Given the description of an element on the screen output the (x, y) to click on. 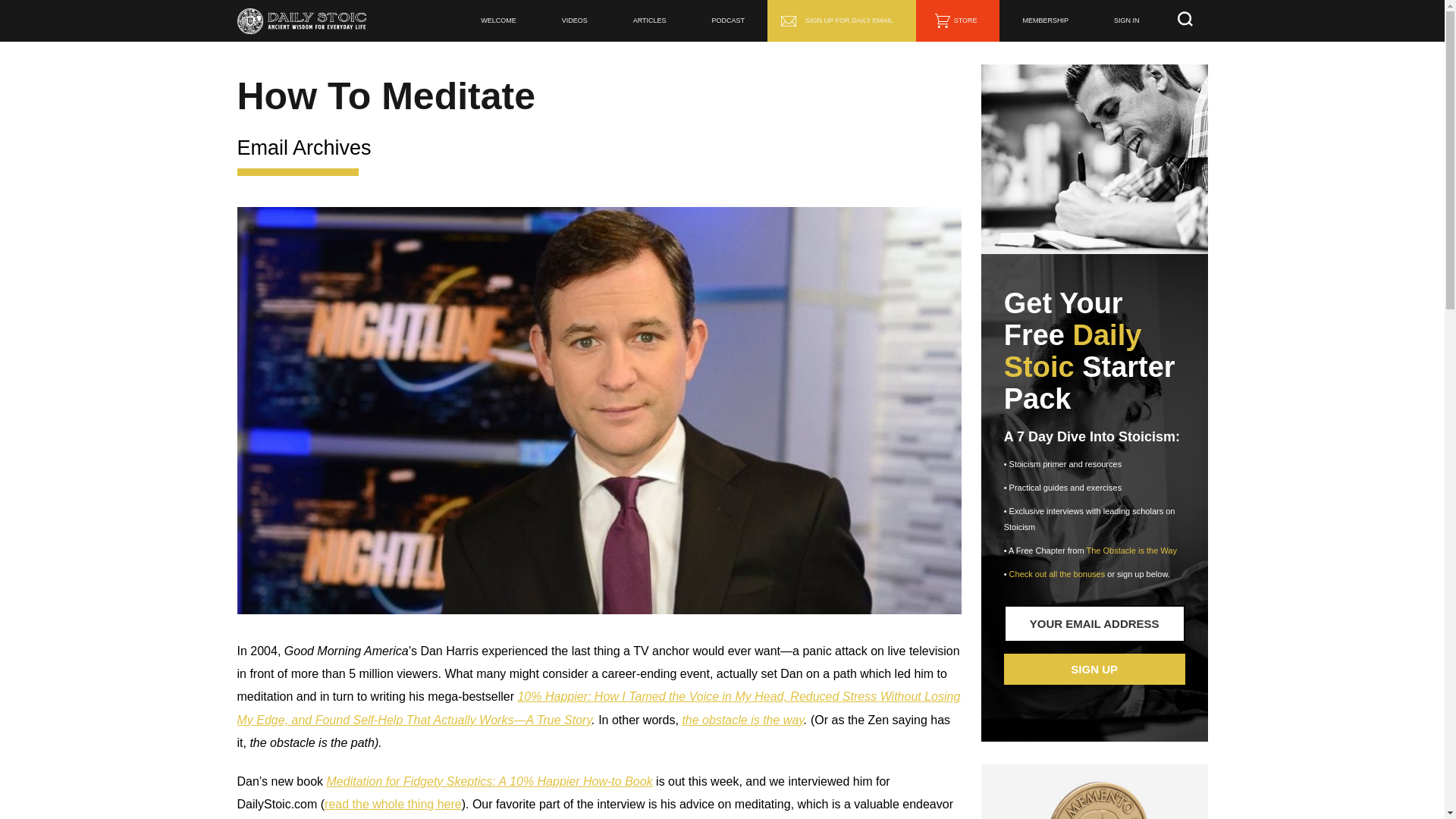
MEMBERSHIP (1044, 20)
PODCAST (728, 20)
Check out all the bonuses (1057, 573)
the obstacle is the way (742, 719)
read the whole thing here (392, 803)
ARTICLES (649, 20)
SIGN IN (1125, 20)
WELCOME (498, 20)
SIGN UP FOR DAILY EMAIL (841, 20)
STORE (957, 20)
The Obstacle is the Way (1131, 550)
VIDEOS (574, 20)
Search (17, 7)
SIGN UP (1094, 668)
Email Archives (303, 147)
